Given the description of an element on the screen output the (x, y) to click on. 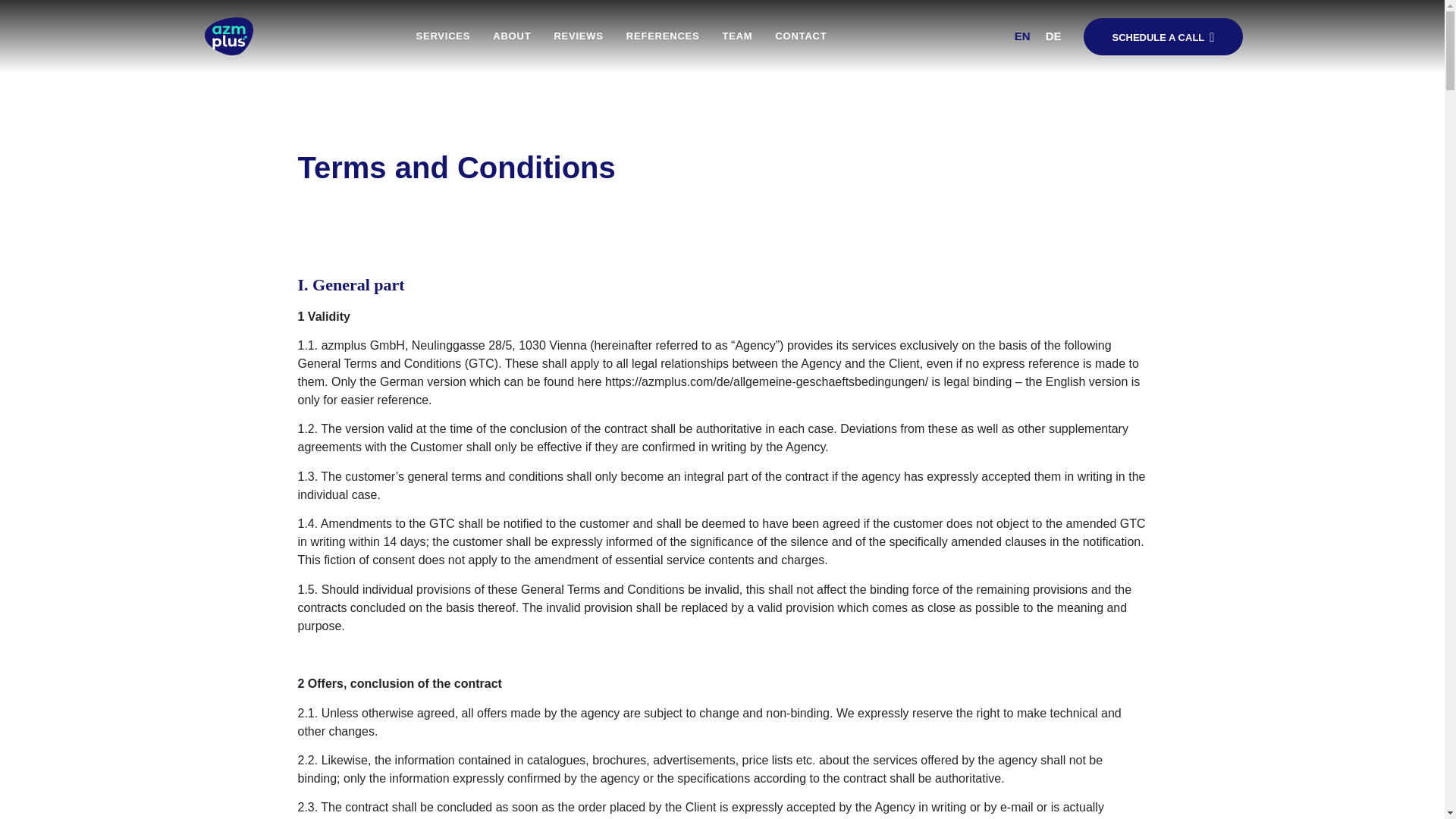
SCHEDULE A CALL (1162, 36)
DE (1053, 36)
REFERENCES (663, 36)
CONTACT (800, 36)
ABOUT (512, 36)
EN (1022, 36)
REVIEWS (577, 36)
SERVICES (443, 36)
TEAM (737, 36)
